Given the description of an element on the screen output the (x, y) to click on. 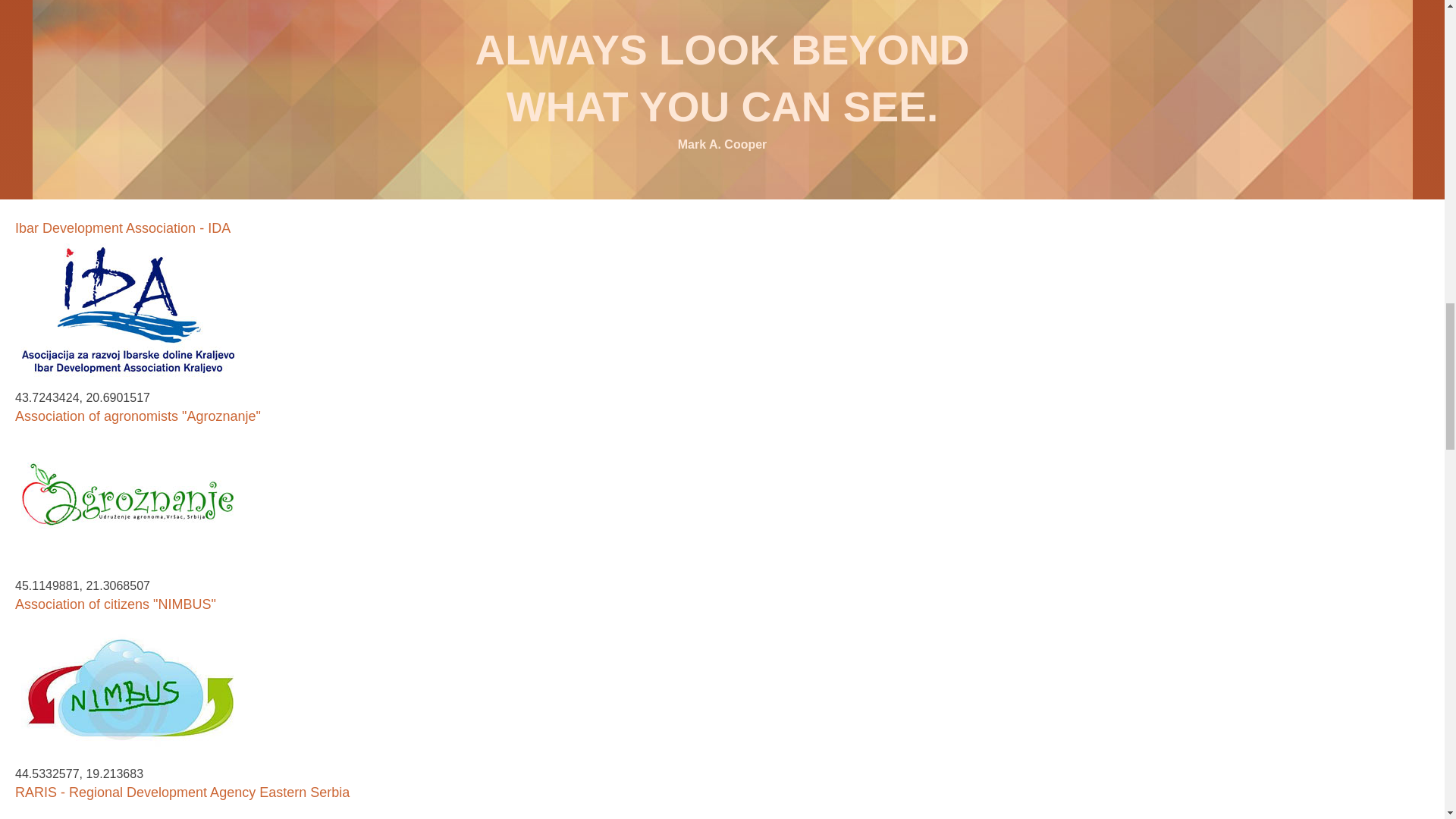
RARIS - Regional Development Agency Eastern Serbia (181, 792)
Association of agronomists "Agroznanje" (137, 416)
Ibar Development Association - IDA (122, 227)
Association of citizens "NIMBUS" (114, 604)
